Given the description of an element on the screen output the (x, y) to click on. 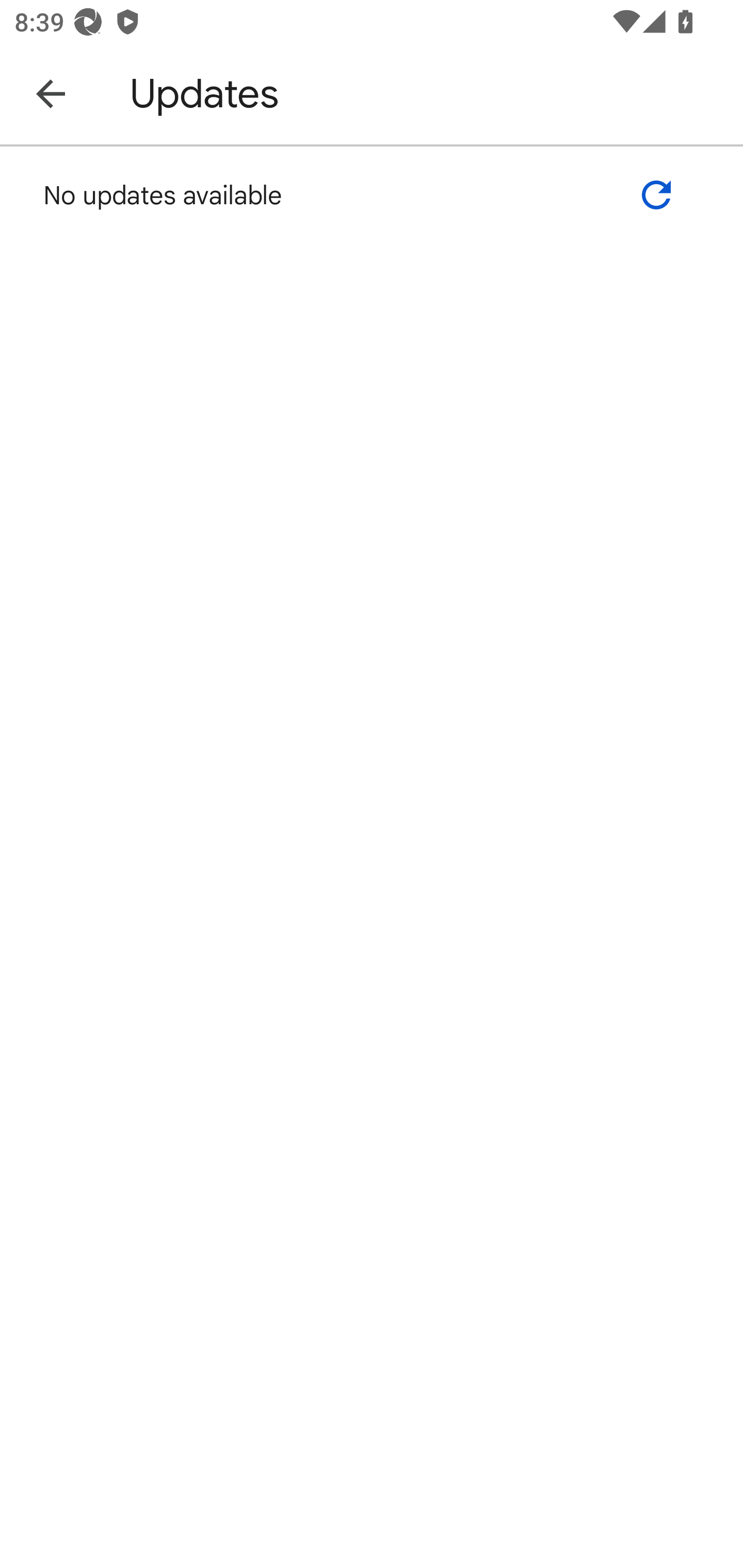
Navigate up (50, 92)
Check for updates (655, 195)
